Given the description of an element on the screen output the (x, y) to click on. 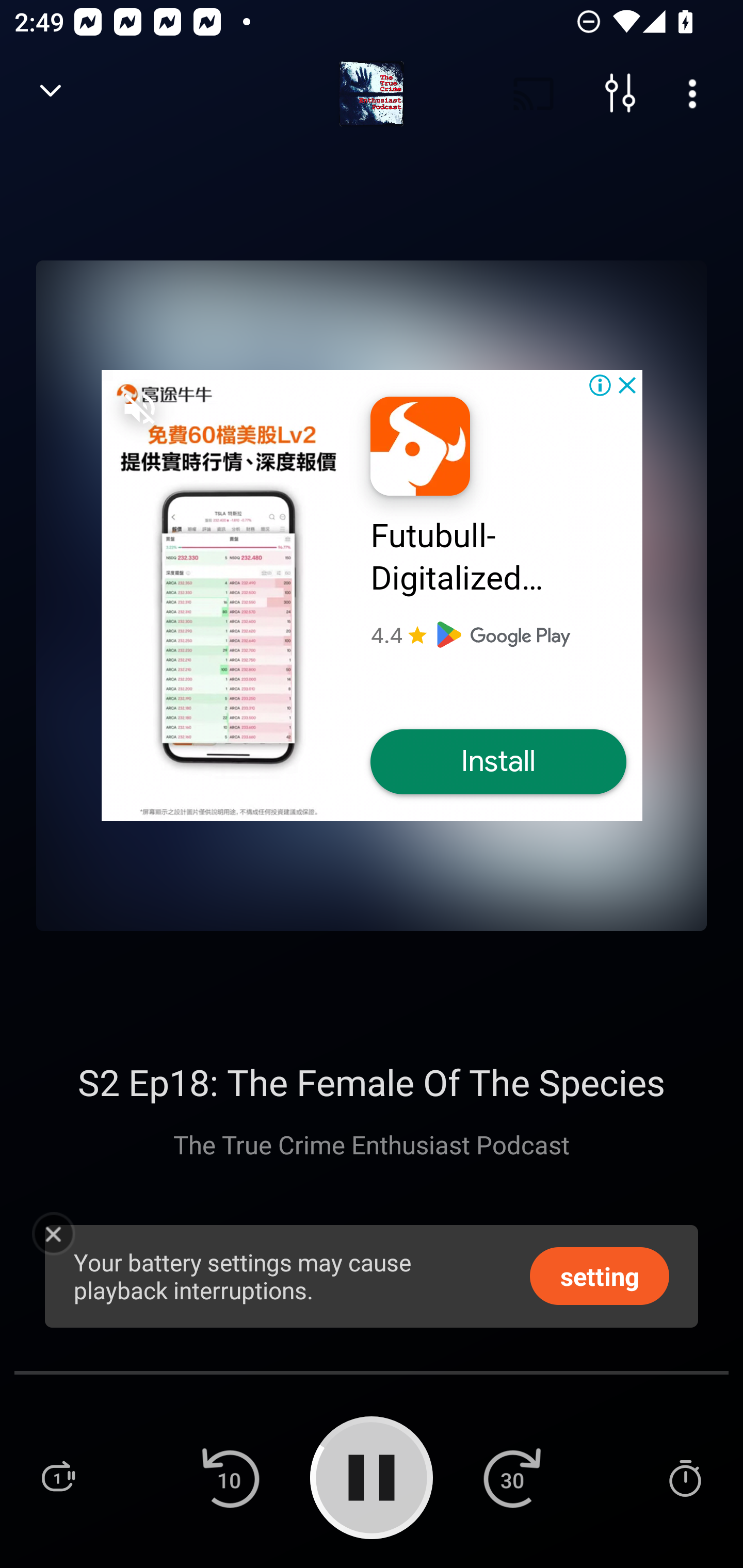
 Back (50, 94)
Futubull-
Digitalized… 4.4 Install Install (371, 595)
Install (498, 762)
S2 Ep18: The Female Of The Species (371, 1081)
The True Crime Enthusiast Podcast (371, 1144)
setting (599, 1275)
 Playlist (57, 1477)
Sleep Timer  (684, 1477)
